Given the description of an element on the screen output the (x, y) to click on. 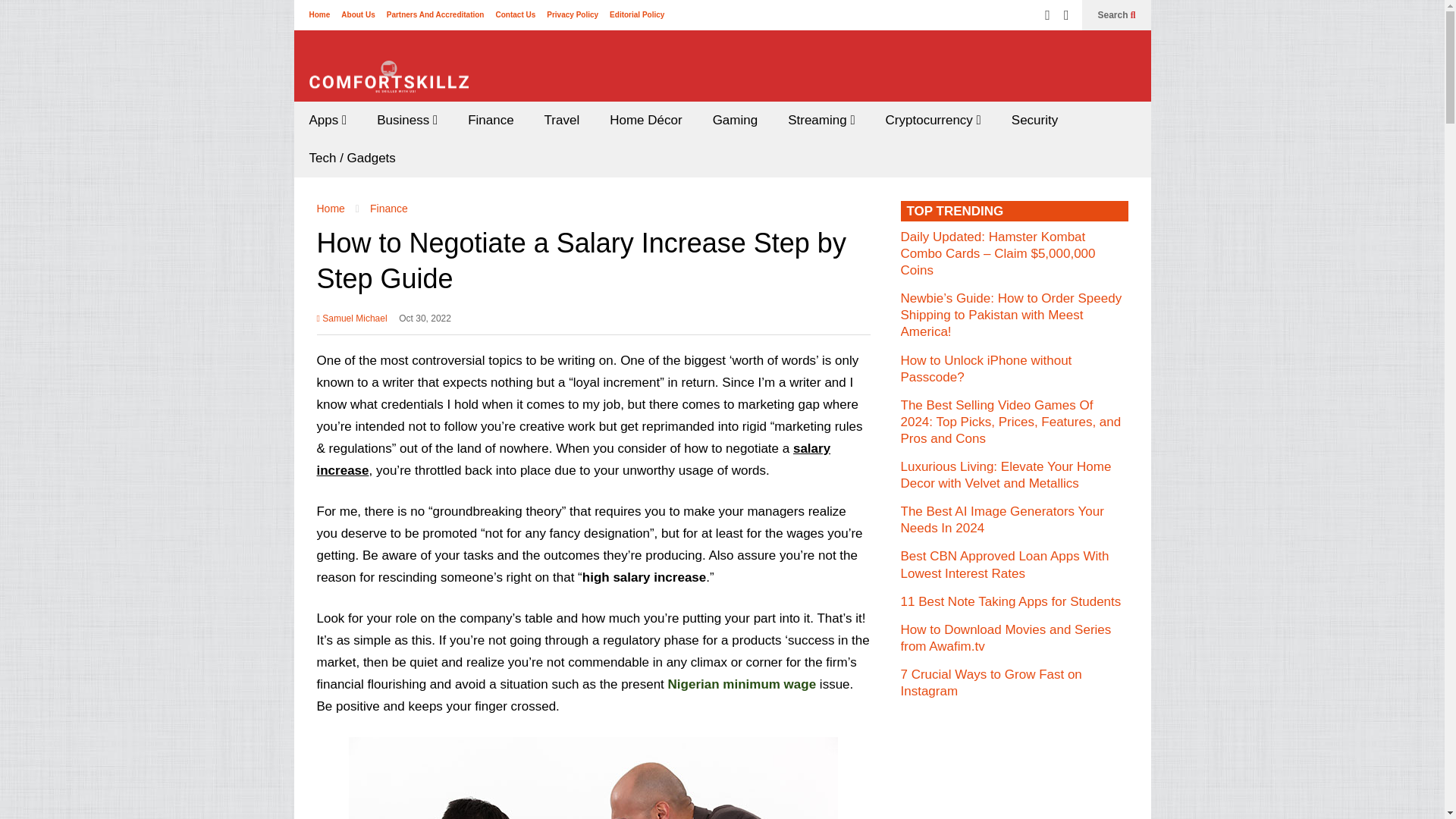
Apps (328, 120)
Gaming (735, 120)
How to Negotiate a Salary Increase Step by Step Guide 1 (593, 778)
Security (1034, 120)
Editorial Policy (636, 14)
About Us (357, 14)
Partners And Accreditation (435, 14)
Home (319, 14)
Search (1116, 15)
Business (406, 120)
